Given the description of an element on the screen output the (x, y) to click on. 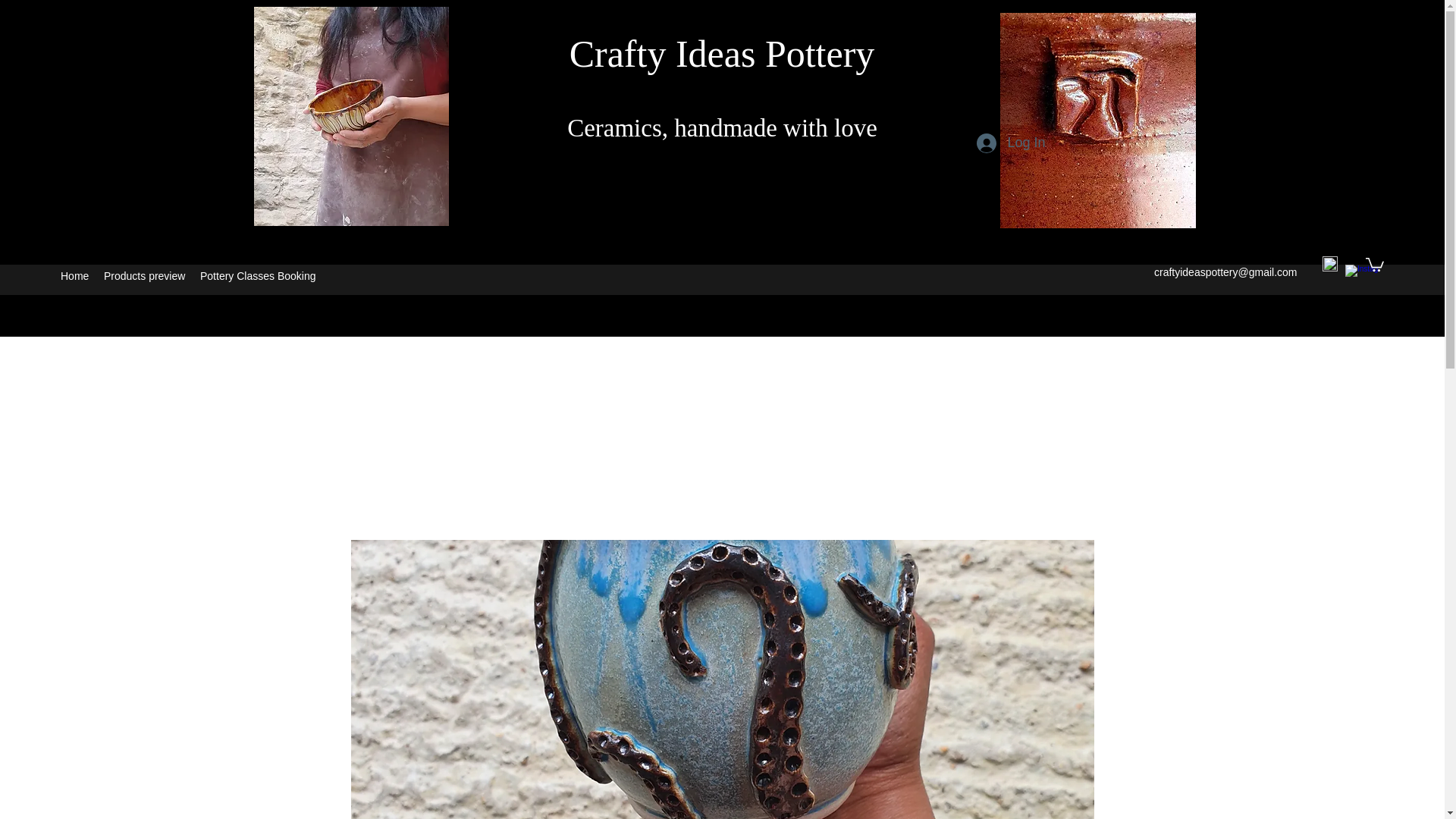
Home (74, 275)
Log In (1010, 142)
Products preview (144, 275)
Pottery Classes Booking (257, 275)
